Given the description of an element on the screen output the (x, y) to click on. 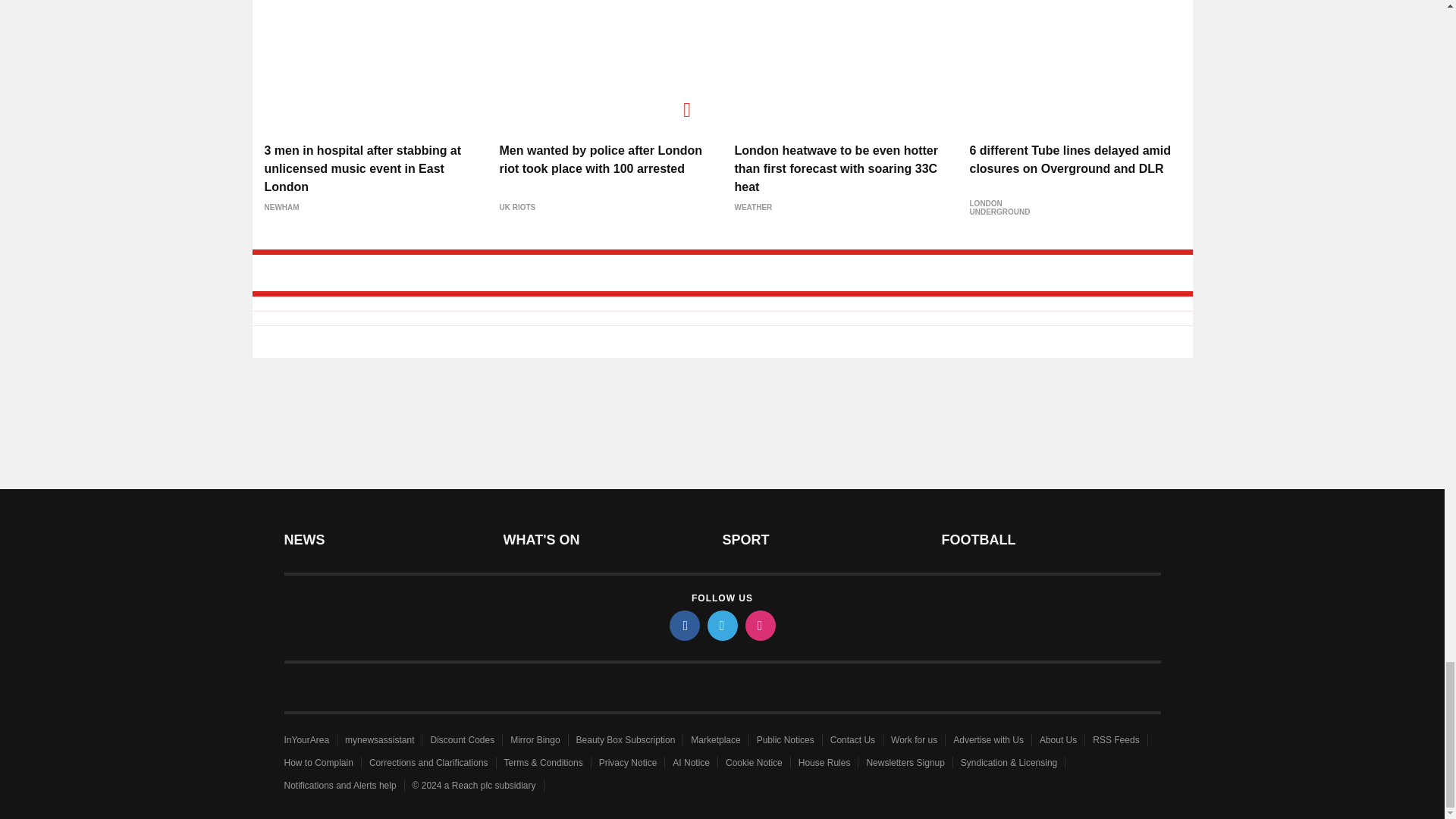
instagram (759, 625)
twitter (721, 625)
facebook (683, 625)
